Given the description of an element on the screen output the (x, y) to click on. 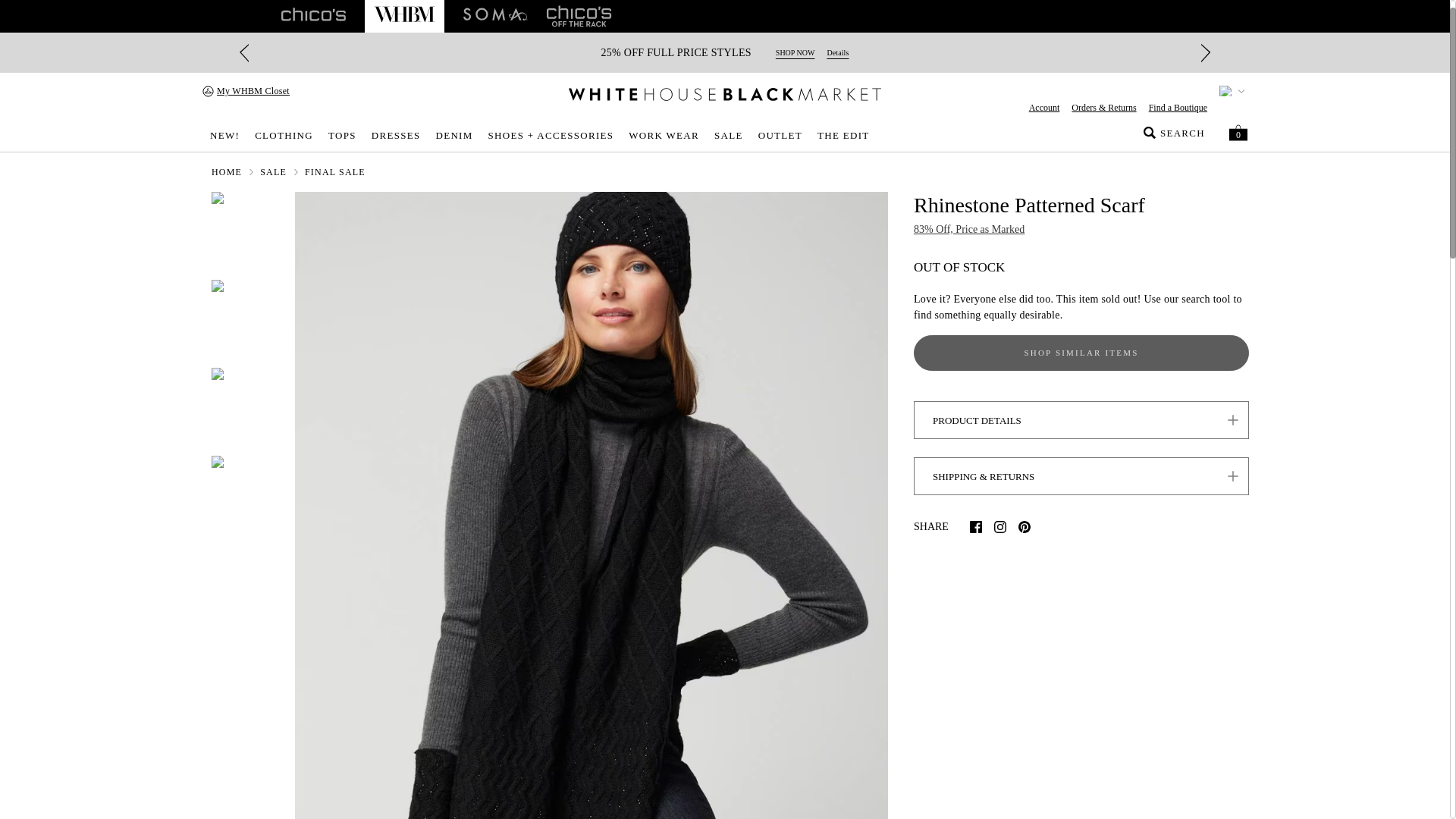
WORK WEAR (663, 136)
SALE (728, 136)
OUTLET (780, 136)
SALE (273, 172)
My WHBM Closet (245, 91)
Chico's Off The Rack (579, 14)
HOME (226, 172)
0 (1237, 132)
Chico's Off The Rack (579, 14)
SHOP NOW (795, 52)
TOPS (342, 136)
DENIM (454, 136)
CLOTHING (283, 136)
WHBM (404, 14)
Account (1044, 107)
